Given the description of an element on the screen output the (x, y) to click on. 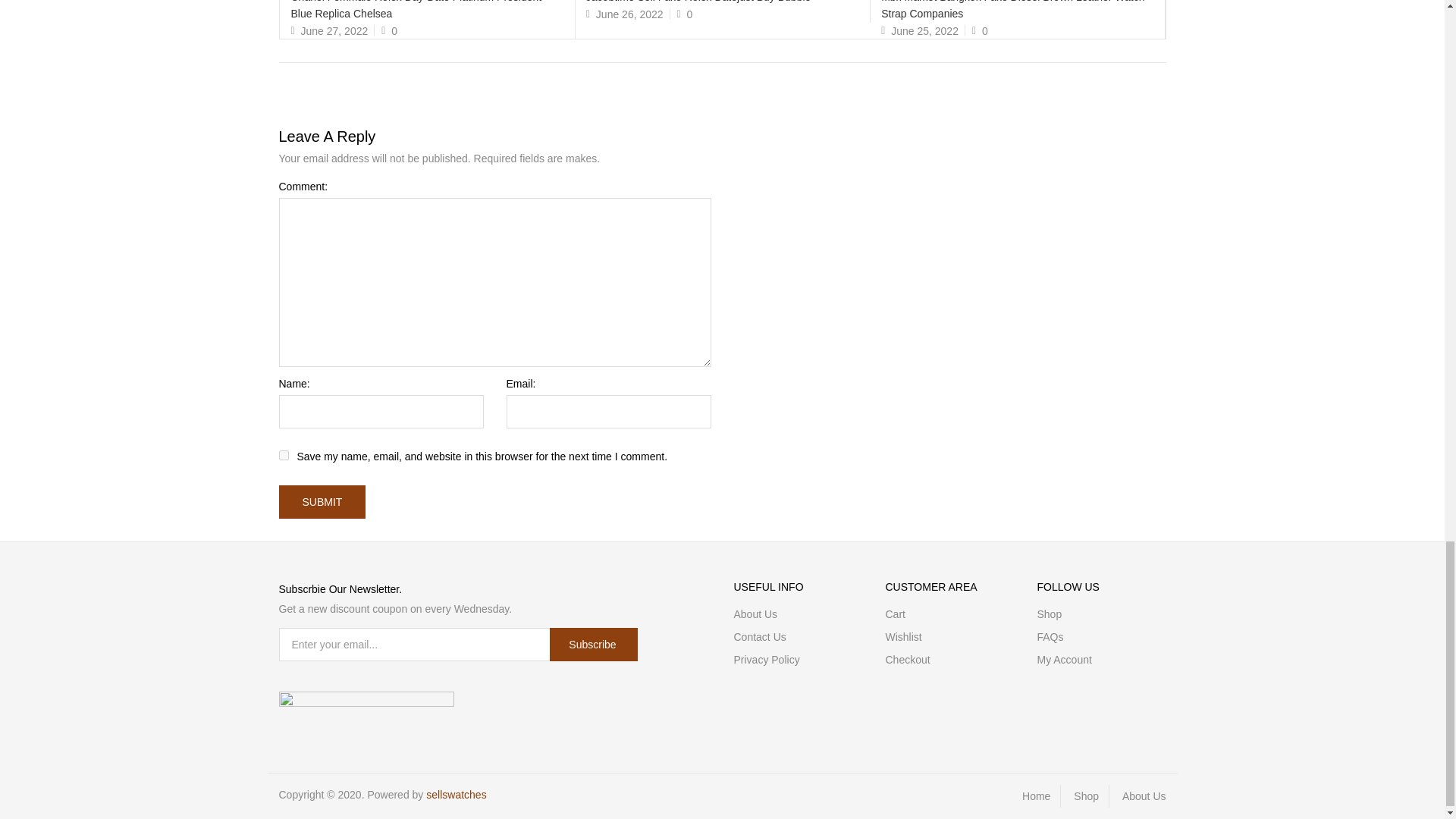
payments (366, 700)
yes (283, 455)
subscribe (593, 644)
submit (322, 501)
